Given the description of an element on the screen output the (x, y) to click on. 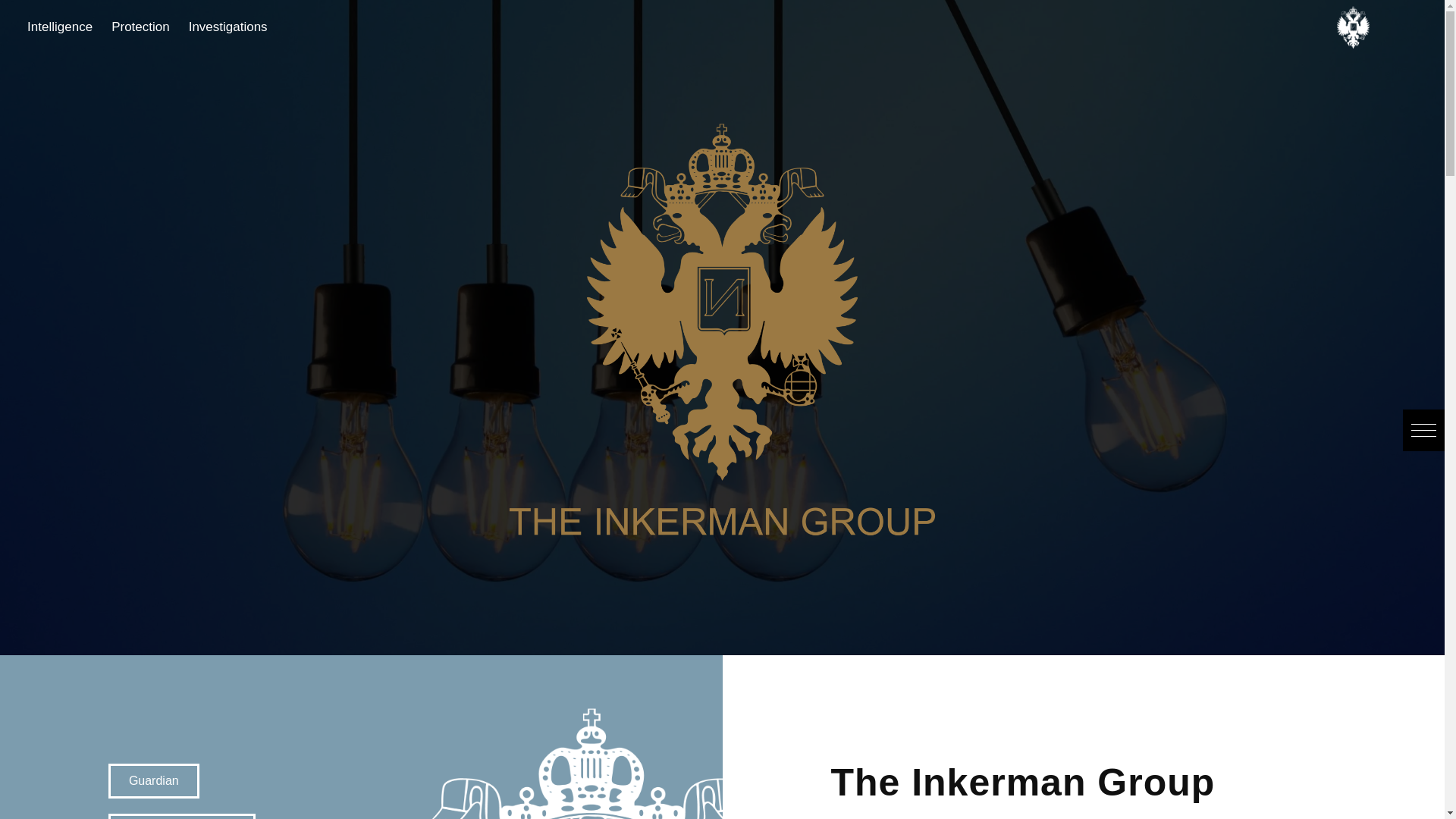
Search (31, 15)
Investigations (198, 26)
Intelligence (28, 26)
Protection (107, 26)
